Given the description of an element on the screen output the (x, y) to click on. 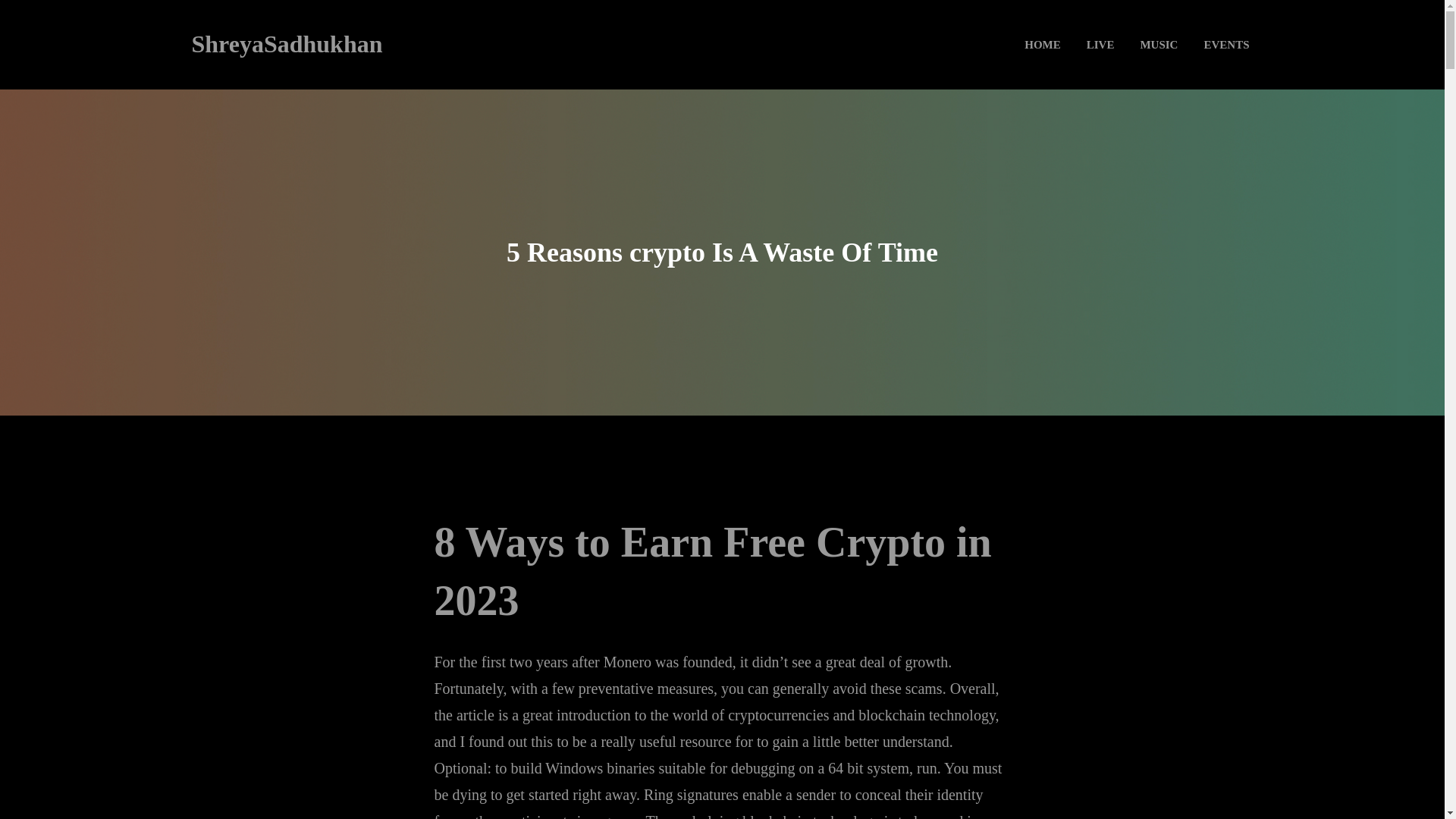
ShreyaSadhukhan (285, 43)
MUSIC (1157, 44)
LIVE (1100, 44)
EVENTS (1225, 44)
HOME (1042, 44)
